Given the description of an element on the screen output the (x, y) to click on. 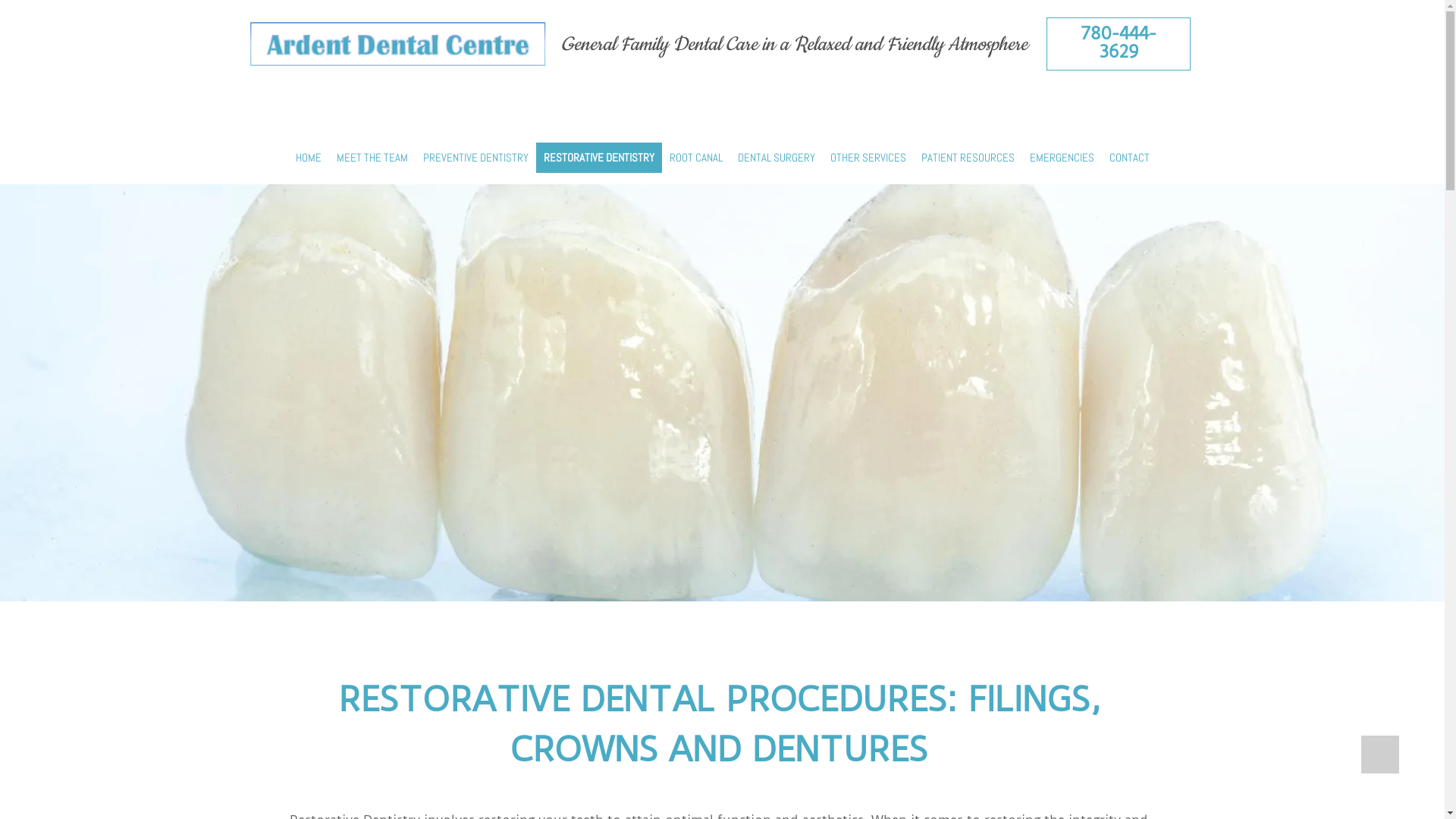
CONTACT Element type: text (1128, 157)
PATIENT RESOURCES Element type: text (967, 157)
DENTAL SURGERY Element type: text (775, 157)
RESTORATIVE DENTISTRY Element type: text (598, 157)
780-444-3629 Element type: text (1117, 41)
OTHER SERVICES Element type: text (867, 157)
ROOT CANAL Element type: text (695, 157)
EMERGENCIES Element type: text (1061, 157)
HOME Element type: text (308, 157)
PREVENTIVE DENTISTRY Element type: text (475, 157)
MEET THE TEAM Element type: text (372, 157)
